Given the description of an element on the screen output the (x, y) to click on. 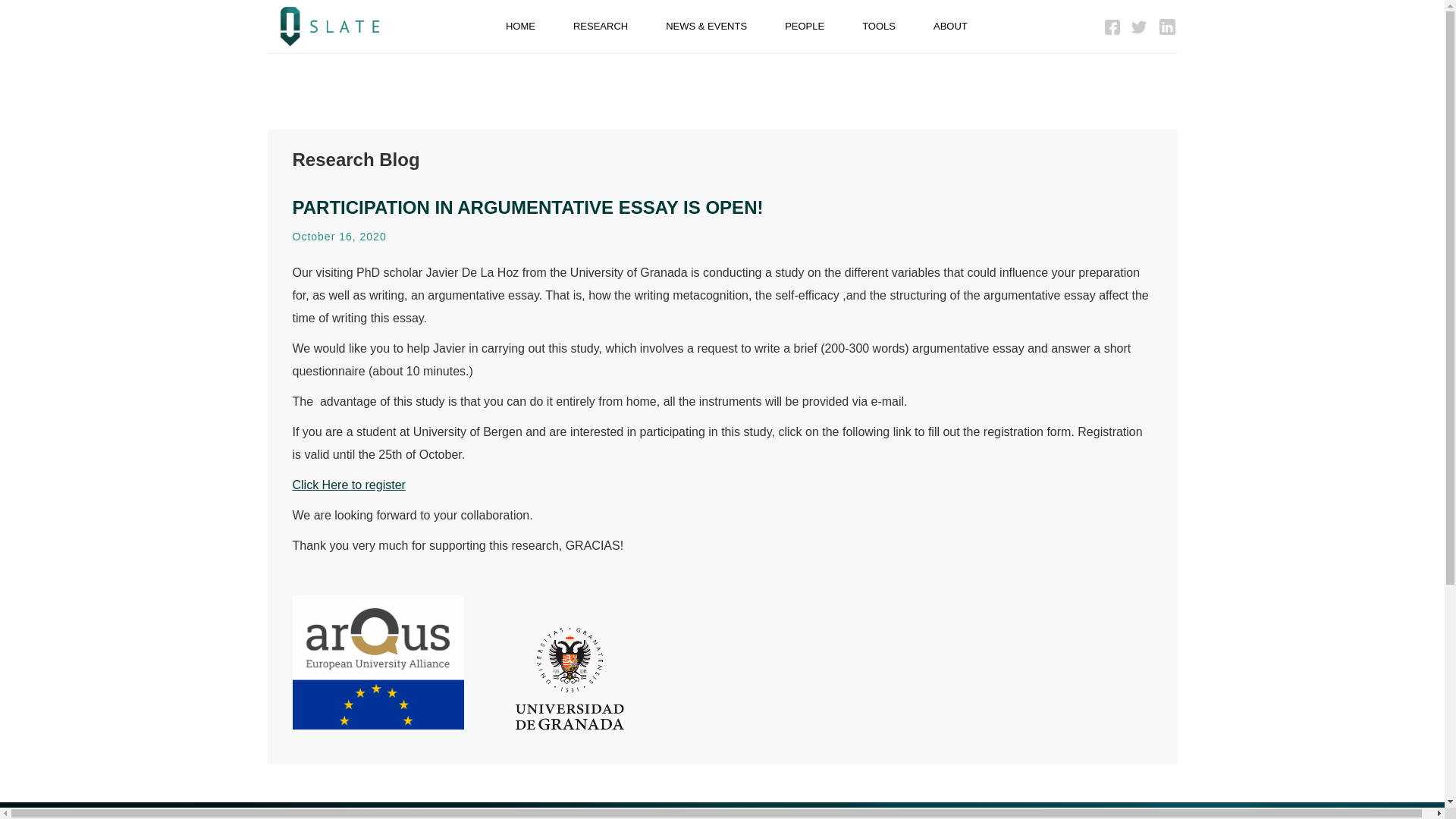
PEOPLE (804, 26)
HOME (520, 26)
Click Here to register (349, 484)
